Given the description of an element on the screen output the (x, y) to click on. 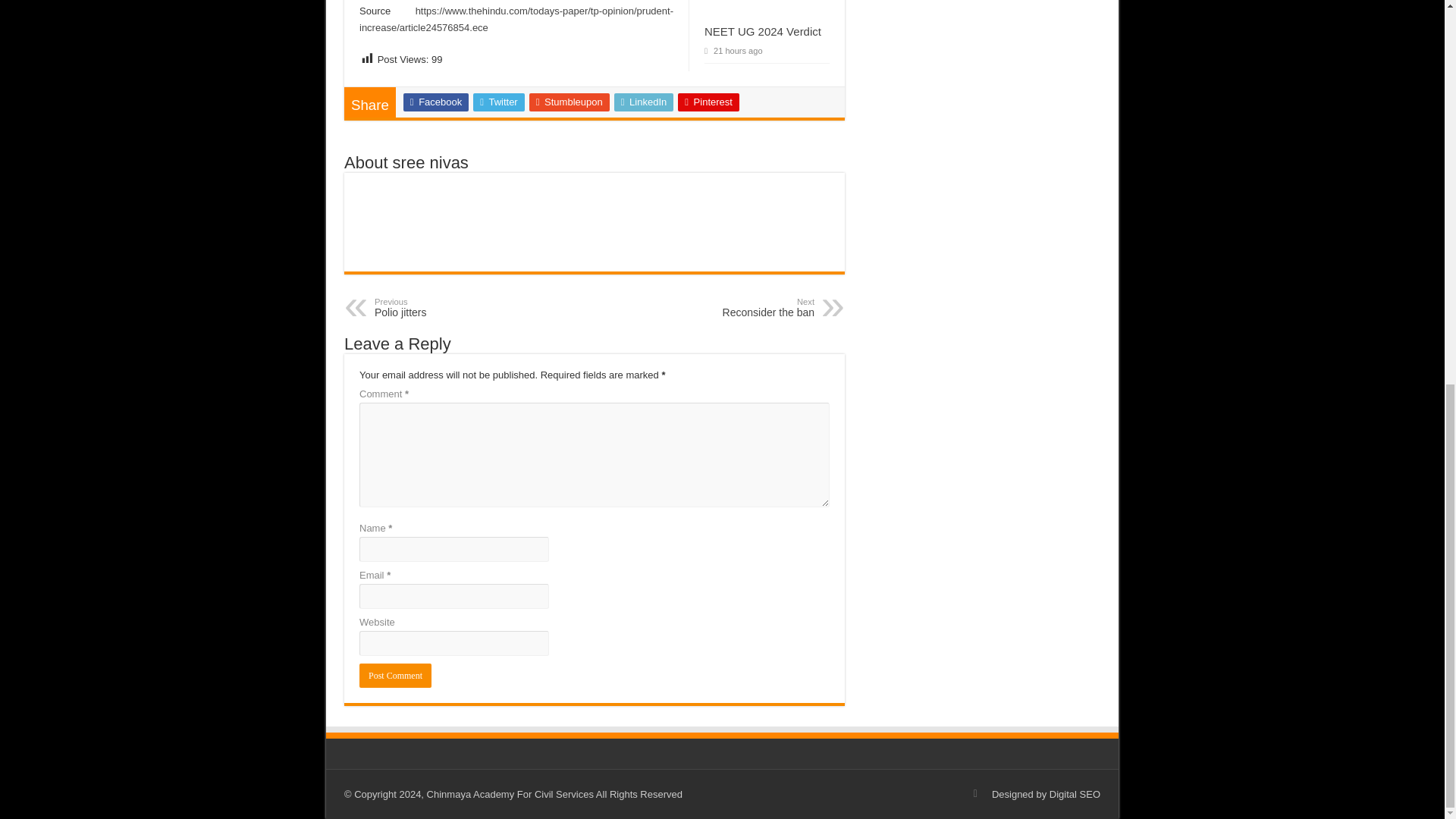
Facebook (736, 307)
Post Comment (435, 102)
LinkedIn (394, 675)
Pinterest (644, 102)
Twitter (708, 102)
Stumbleupon (498, 102)
NEET UG 2024 Verdict (569, 102)
